Given the description of an element on the screen output the (x, y) to click on. 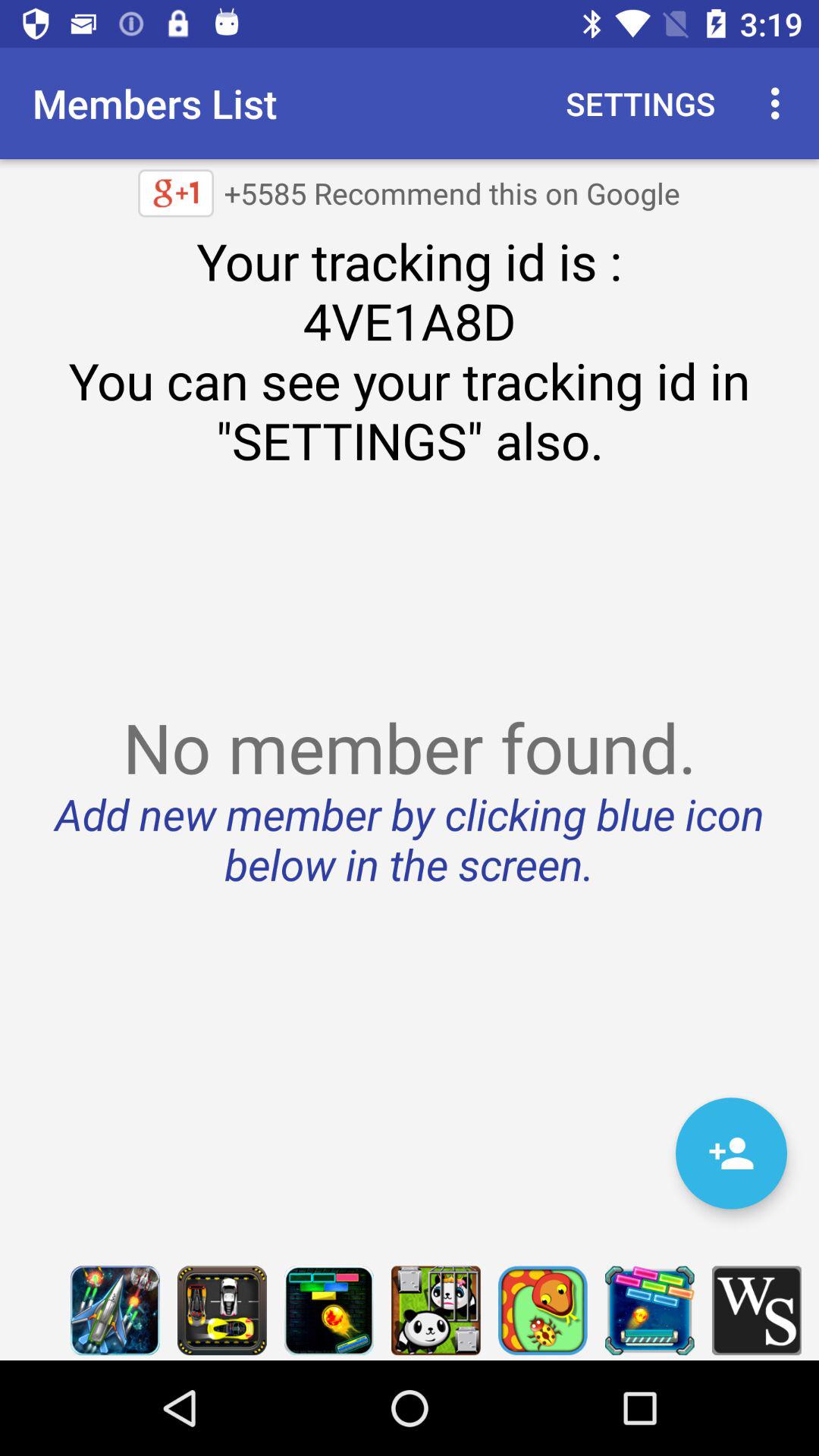
add a new member (731, 1153)
